Given the description of an element on the screen output the (x, y) to click on. 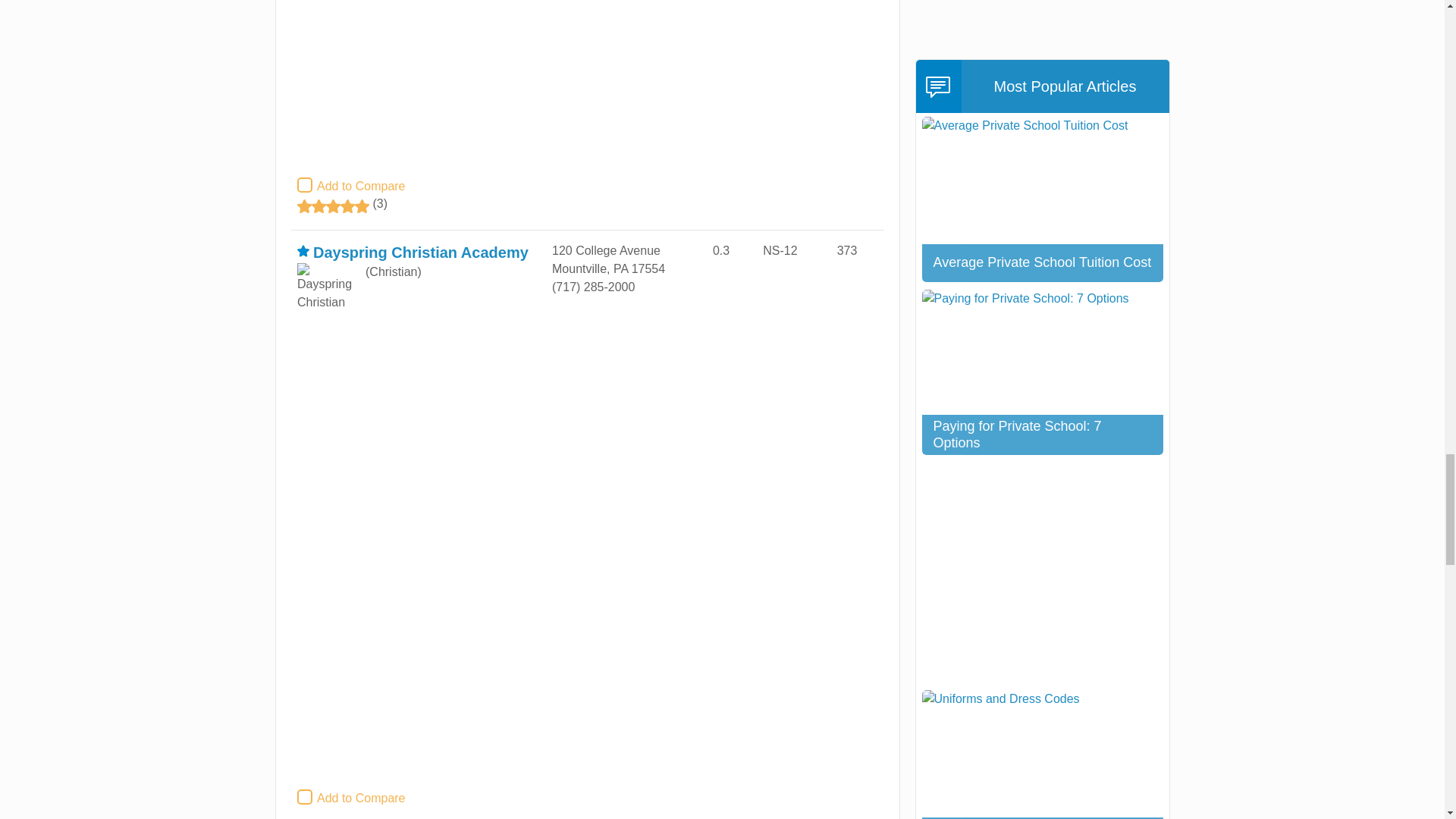
Top Ranked School (302, 250)
23419 (304, 797)
24504 (304, 184)
Average 5.00 stars across 3 reviews  (421, 205)
